Given the description of an element on the screen output the (x, y) to click on. 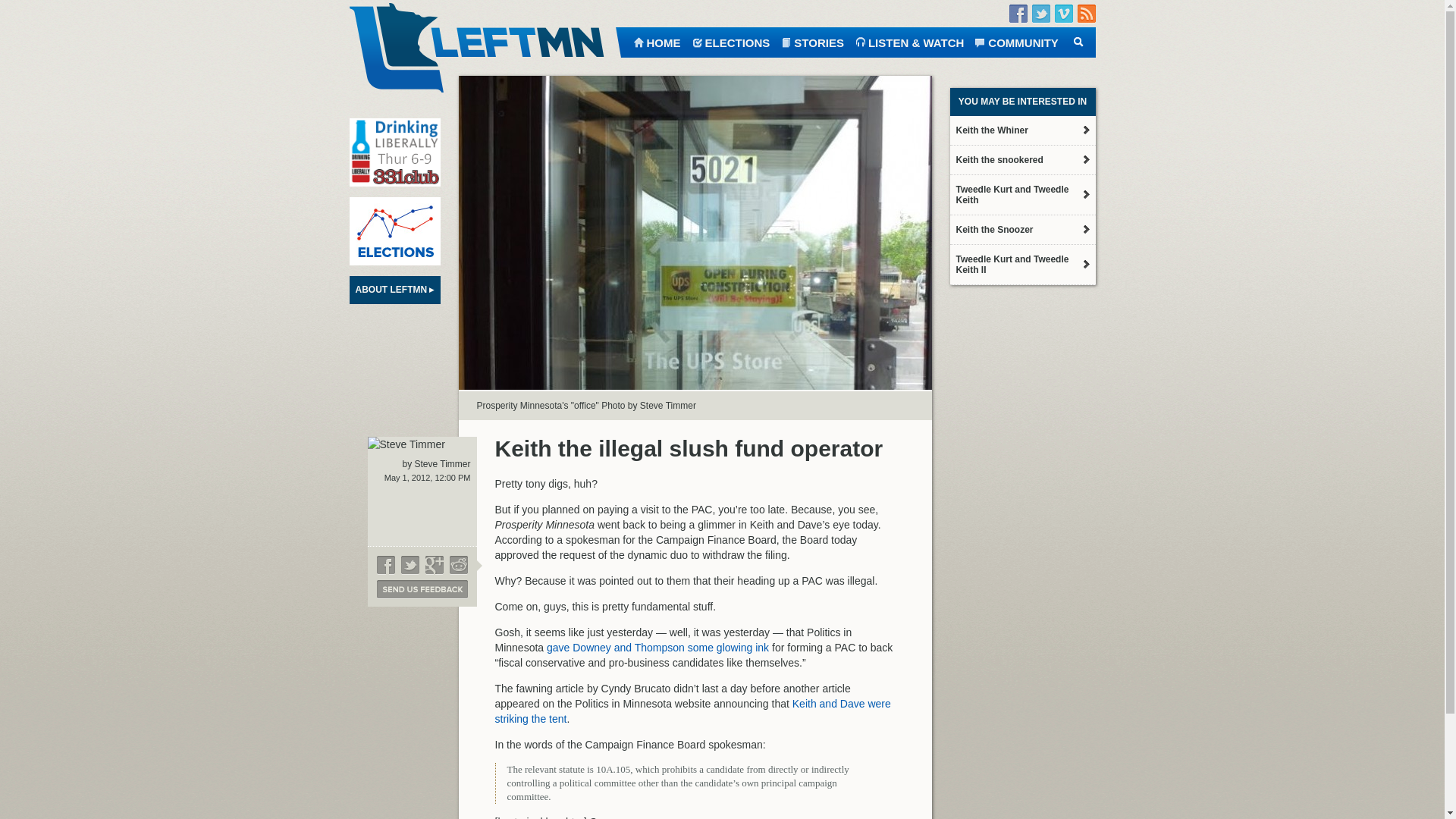
Keith the Whiner (1021, 130)
Drinking Liberally Minneapolis (394, 151)
STORIES (812, 41)
gave Downey and Thompson some glowing ink (657, 647)
COMMUNITY (1016, 41)
RSS (1085, 13)
Tweedle Kurt and Tweedle Keith (1021, 194)
ELECTIONS (730, 41)
Tweedle Kurt and Tweedle Keith II (1021, 264)
HOME (655, 41)
